Given the description of an element on the screen output the (x, y) to click on. 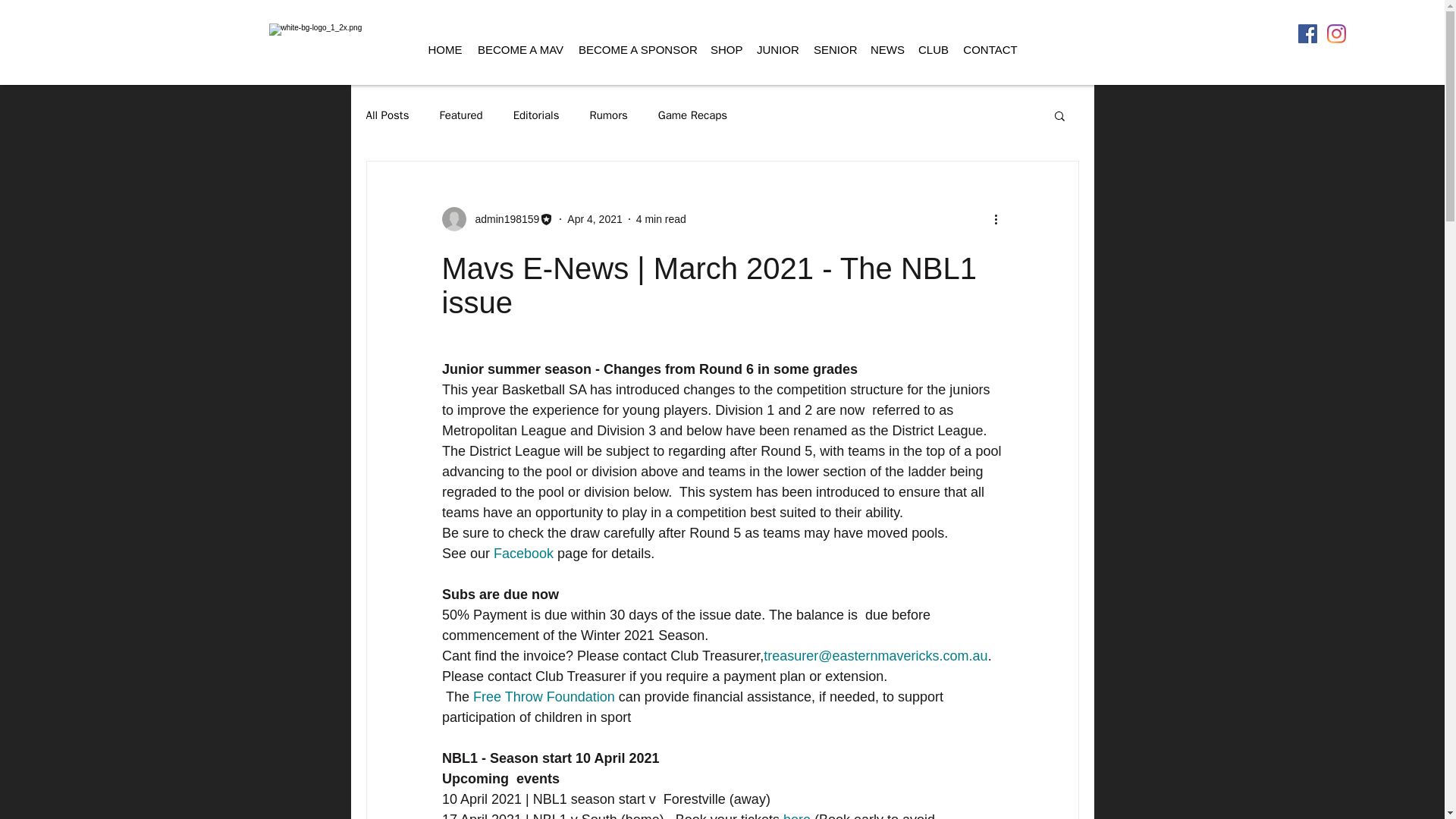
BECOME A SPONSOR (636, 50)
Rumors (608, 114)
BECOME A MAV (520, 50)
 Facebook  (523, 553)
Apr 4, 2021 (594, 218)
4 min read (660, 218)
Game Recaps (692, 114)
CONTACT (990, 50)
admin198159 (497, 218)
All Posts (387, 114)
